Given the description of an element on the screen output the (x, y) to click on. 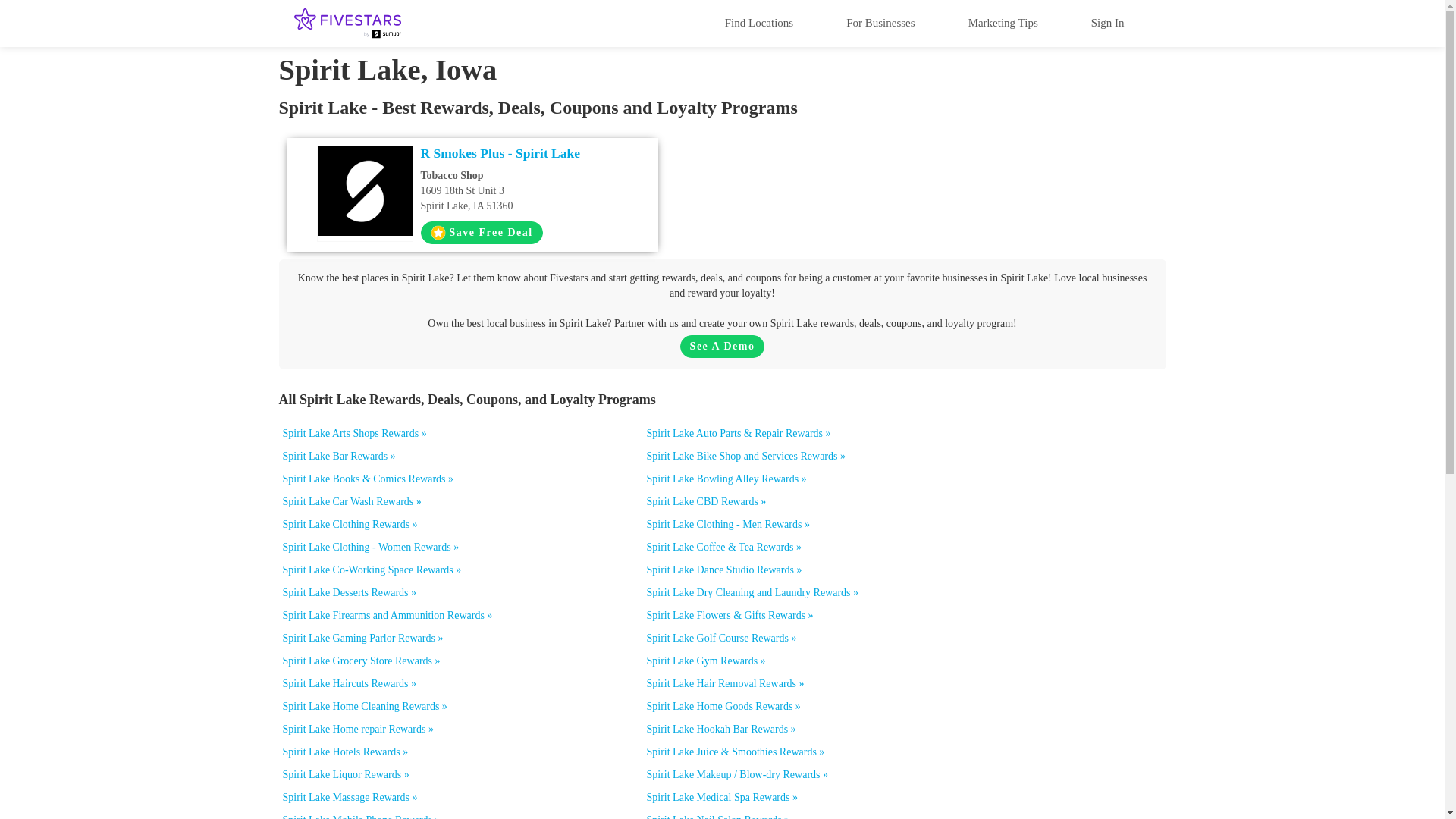
See A Demo (522, 189)
Marketing Tips and Blog (722, 345)
Marketing Tips (1002, 22)
R Smokes Plus - Spirit Lake (1002, 22)
R Smokes Plus - Spirit Lake Logo (522, 152)
Get R Smokes Plus - Spirit Lake Reward (364, 190)
Sign In (480, 232)
See a Demo and Learn More About Fivestars (1107, 22)
Save Free Deal (722, 345)
For Businesses (480, 232)
Find Locations (880, 22)
R Smokes Plus - Spirit Lake Rewards, Coupons, and Deals (759, 22)
